Given the description of an element on the screen output the (x, y) to click on. 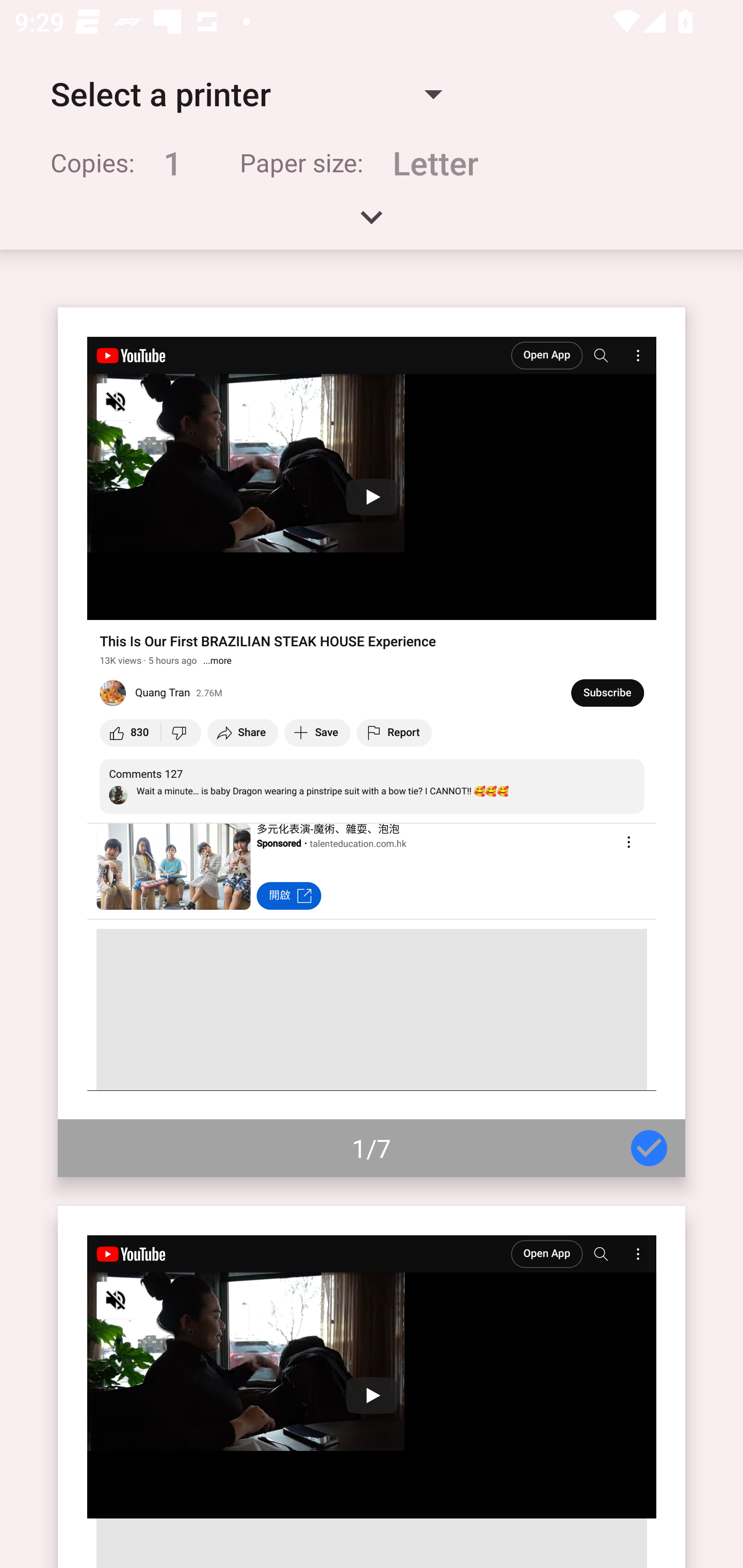
Select a printer (245, 93)
Expand handle (371, 224)
Page 1 of 7 1/7 (371, 742)
Page 2 of 7 (371, 1386)
